Given the description of an element on the screen output the (x, y) to click on. 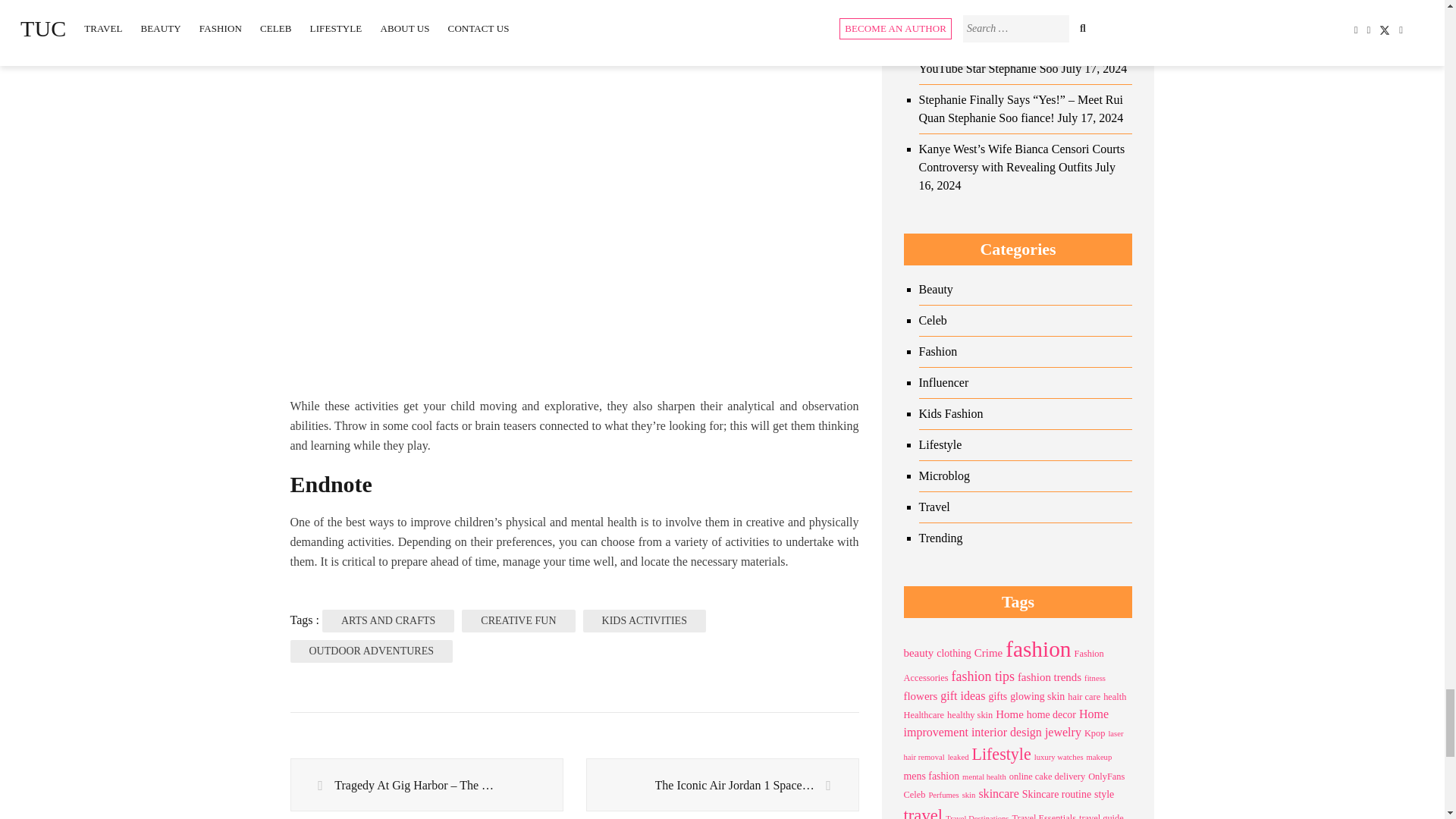
ARTS AND CRAFTS (387, 620)
Tragedy At Gig Harbor - The Fatal Toll Booth Collision (426, 785)
CREATIVE FUN (518, 620)
KIDS ACTIVITIES (644, 620)
OUTDOOR ADVENTURES (370, 650)
